Given the description of an element on the screen output the (x, y) to click on. 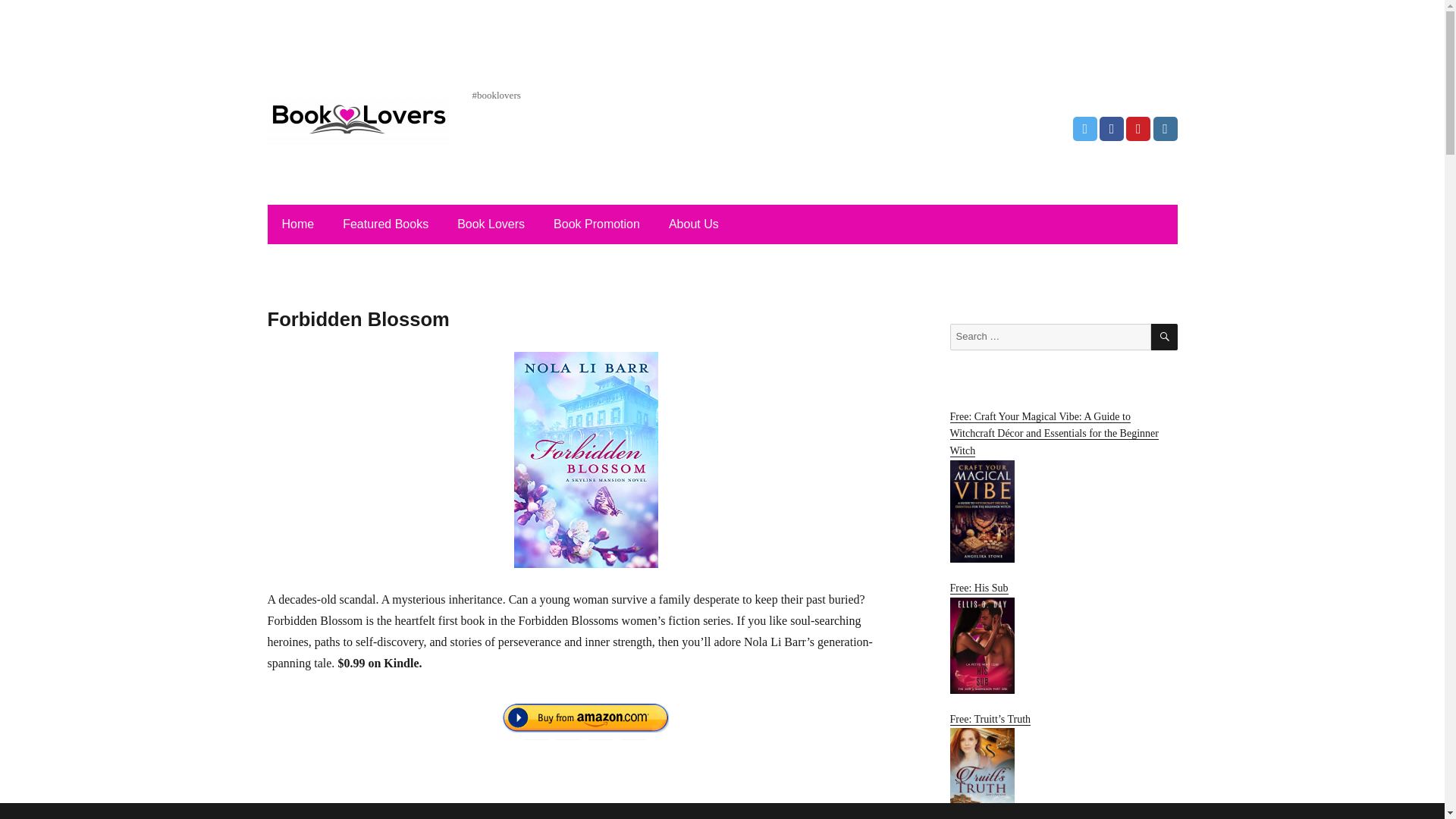
Book Promotion (596, 224)
SEARCH (1164, 336)
About Us (693, 224)
Pinterest (1137, 128)
Instagram (1164, 128)
Facebook (1111, 128)
Book Lovers (490, 224)
Free: His Sub (1062, 637)
Twitter (1085, 128)
Featured Books (385, 224)
